Given the description of an element on the screen output the (x, y) to click on. 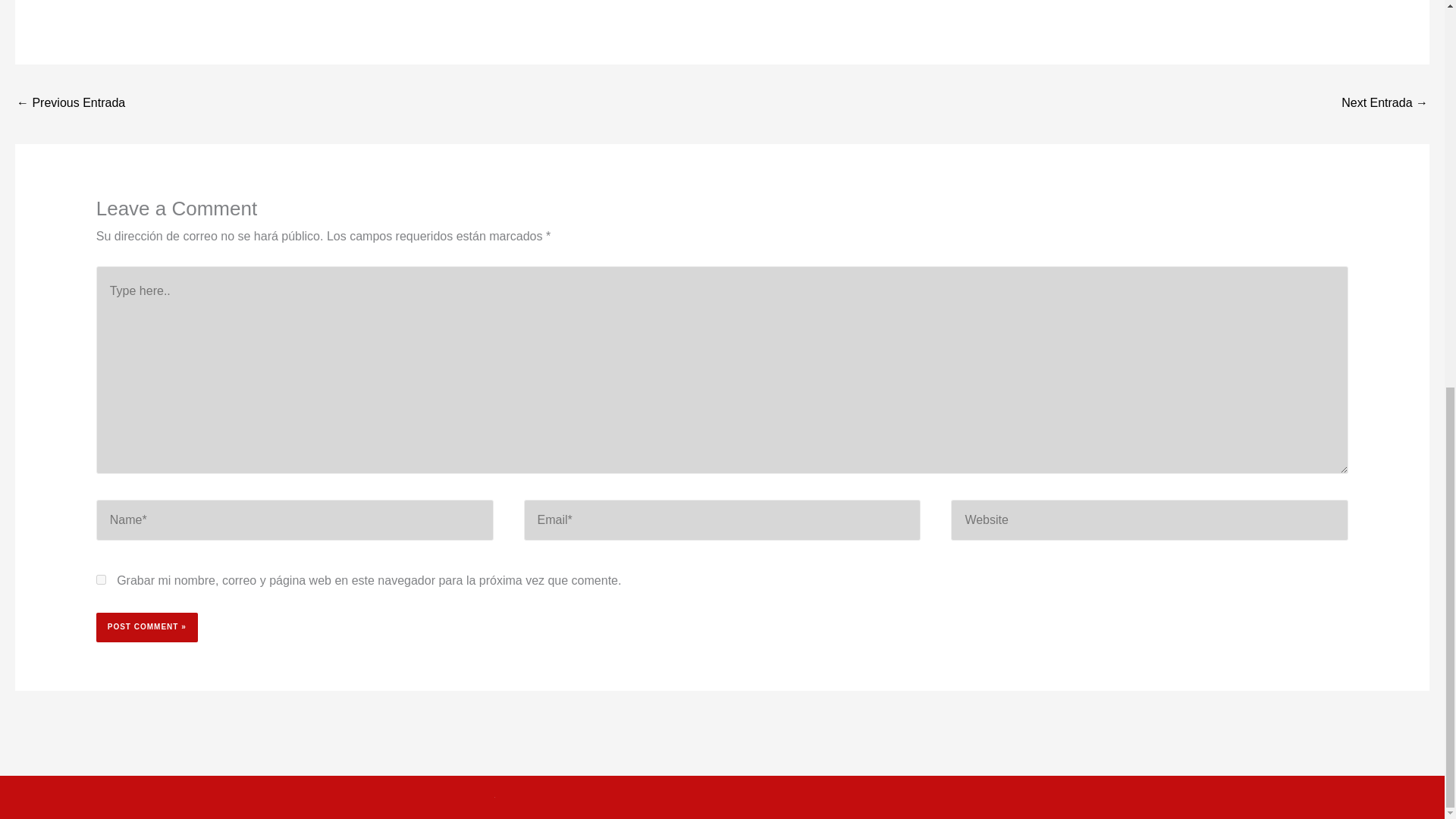
Choosing a Data Room Provider (1384, 103)
yes (101, 578)
